Given the description of an element on the screen output the (x, y) to click on. 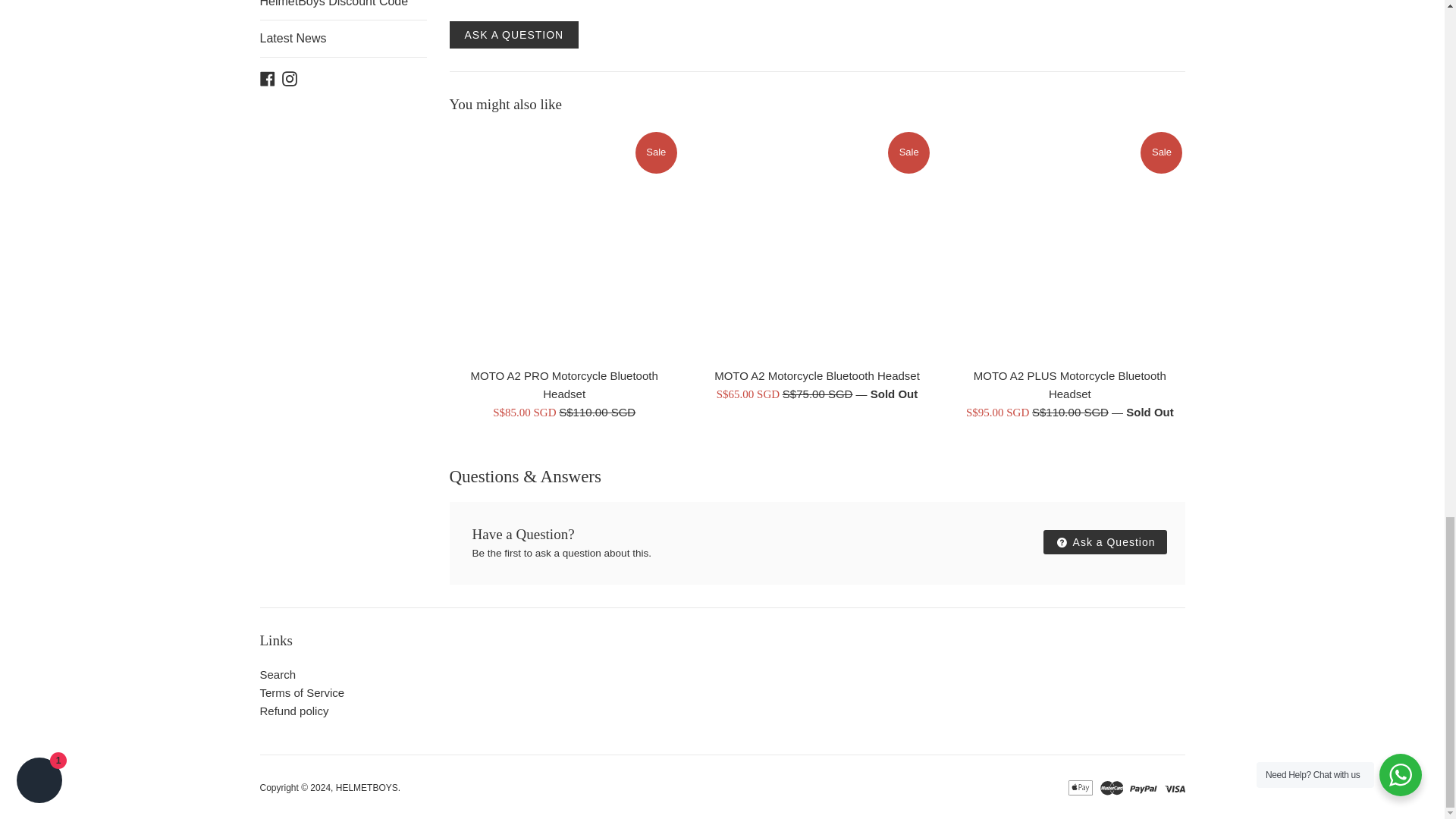
MOTO A2 PRO Motorcycle Bluetooth Headset (563, 244)
HELMETBOYS on Facebook (267, 77)
MOTO A2 PLUS Motorcycle Bluetooth Headset (1070, 244)
MOTO A2 Motorcycle Bluetooth Headset (816, 244)
HELMETBOYS on Instagram (289, 77)
